Given the description of an element on the screen output the (x, y) to click on. 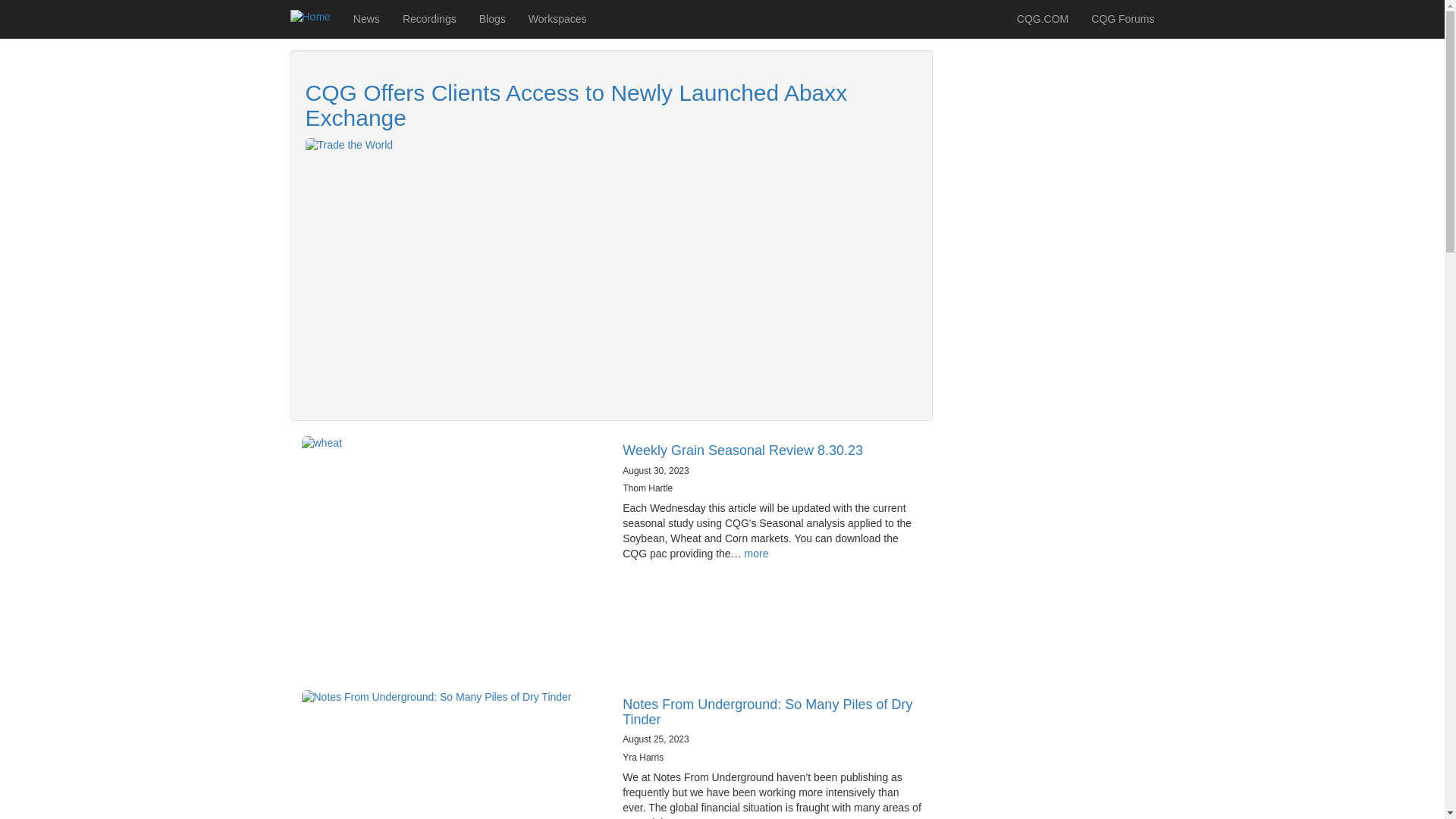
more (756, 553)
Home (314, 17)
Workspaces (557, 18)
Notes From Underground: So Many Piles of Dry Tinder (767, 711)
Blogs (491, 18)
CQG.COM (1043, 18)
Recordings (429, 18)
CQG Forums (1123, 18)
Weekly Grain Seasonal Review 8.30.23 (743, 450)
News (366, 18)
CQG Offers Clients Access to Newly Launched Abaxx Exchange (575, 105)
more (688, 817)
